Given the description of an element on the screen output the (x, y) to click on. 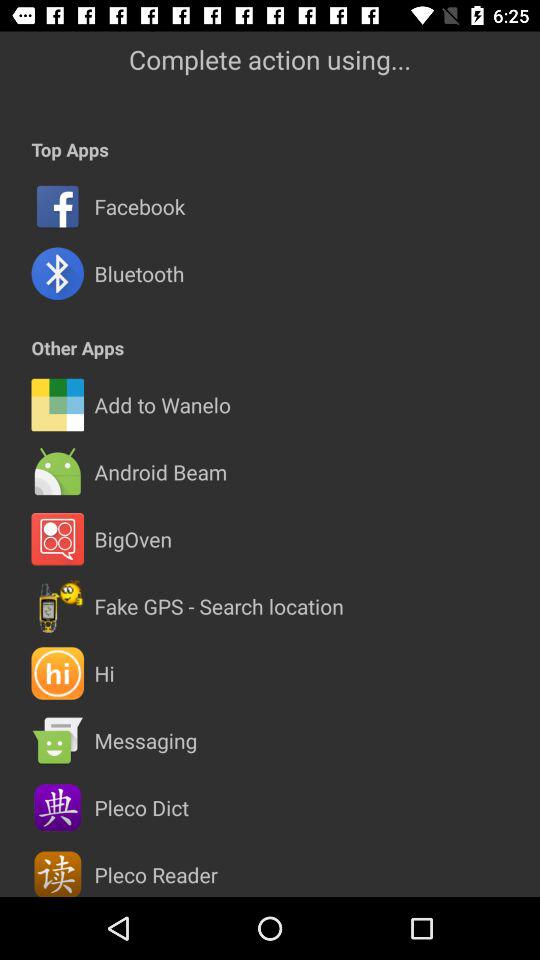
turn on the hi app (104, 673)
